Given the description of an element on the screen output the (x, y) to click on. 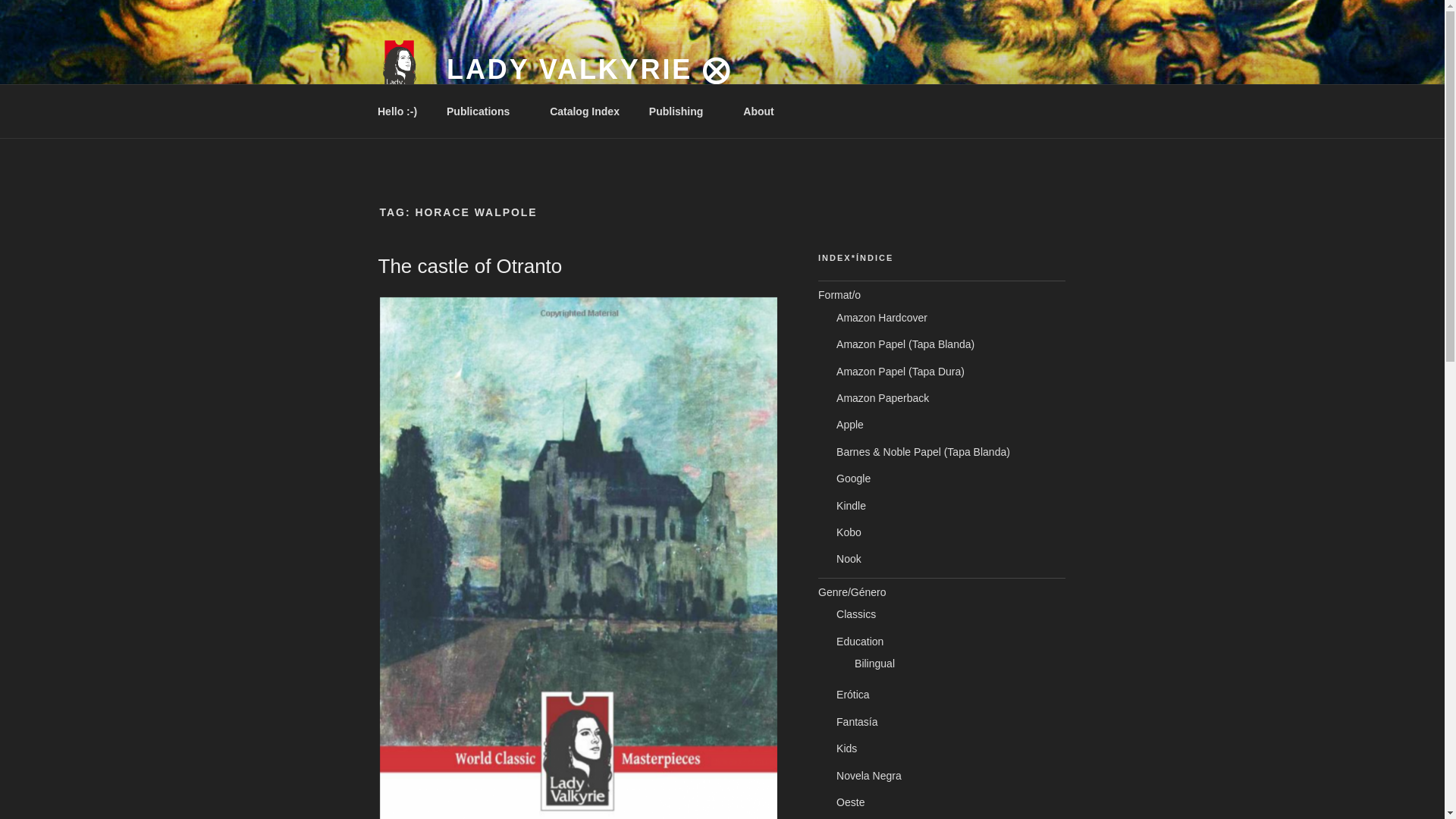
Google (852, 478)
Publishing (680, 110)
Kobo (848, 532)
Catalog Index (585, 110)
Amazon Hardcover (881, 317)
Kindle (850, 505)
Nook (848, 558)
The castle of Otranto (469, 265)
Publications (483, 110)
Amazon Paperback (881, 398)
